Given the description of an element on the screen output the (x, y) to click on. 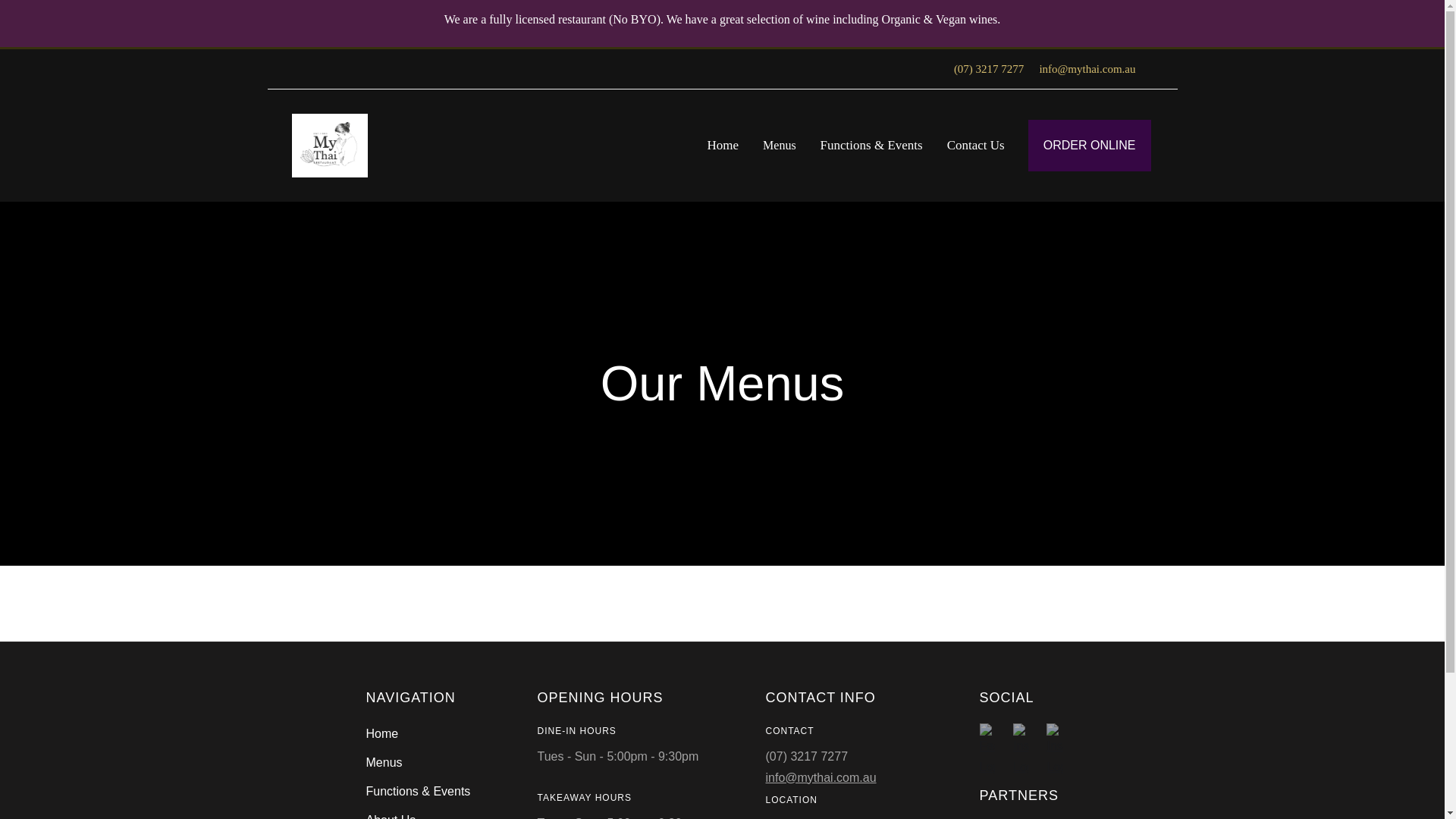
Contact Us Element type: text (975, 145)
Menus Element type: text (417, 762)
Functions & Events Element type: text (417, 791)
Functions & Events Element type: text (871, 145)
Home Element type: text (722, 145)
info@mythai.com.au Element type: text (839, 777)
Menus Element type: text (779, 145)
Home Element type: text (417, 733)
